Given the description of an element on the screen output the (x, y) to click on. 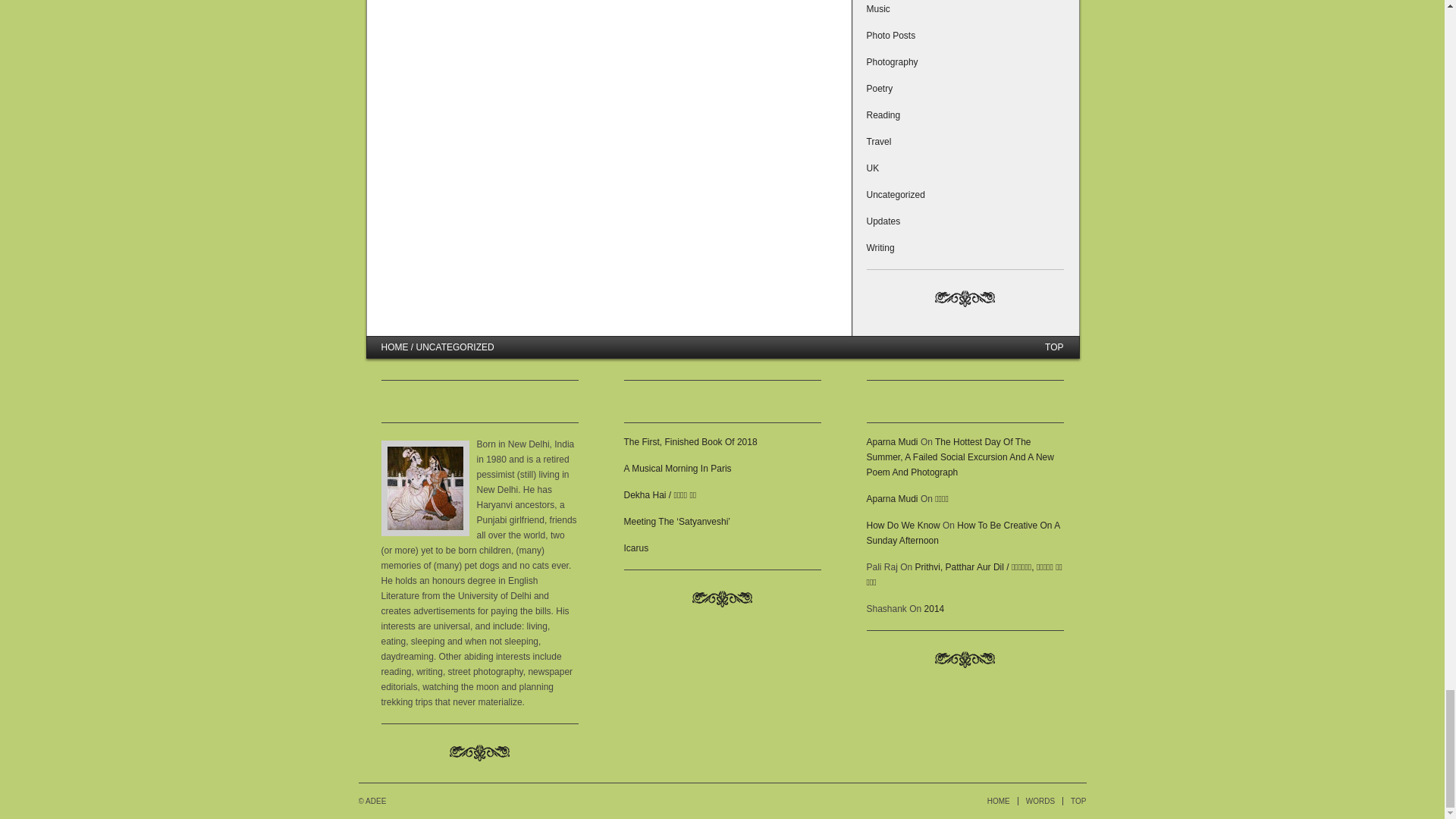
TOP (1078, 800)
top (1053, 347)
Top (1078, 800)
TOP (1053, 347)
